Given the description of an element on the screen output the (x, y) to click on. 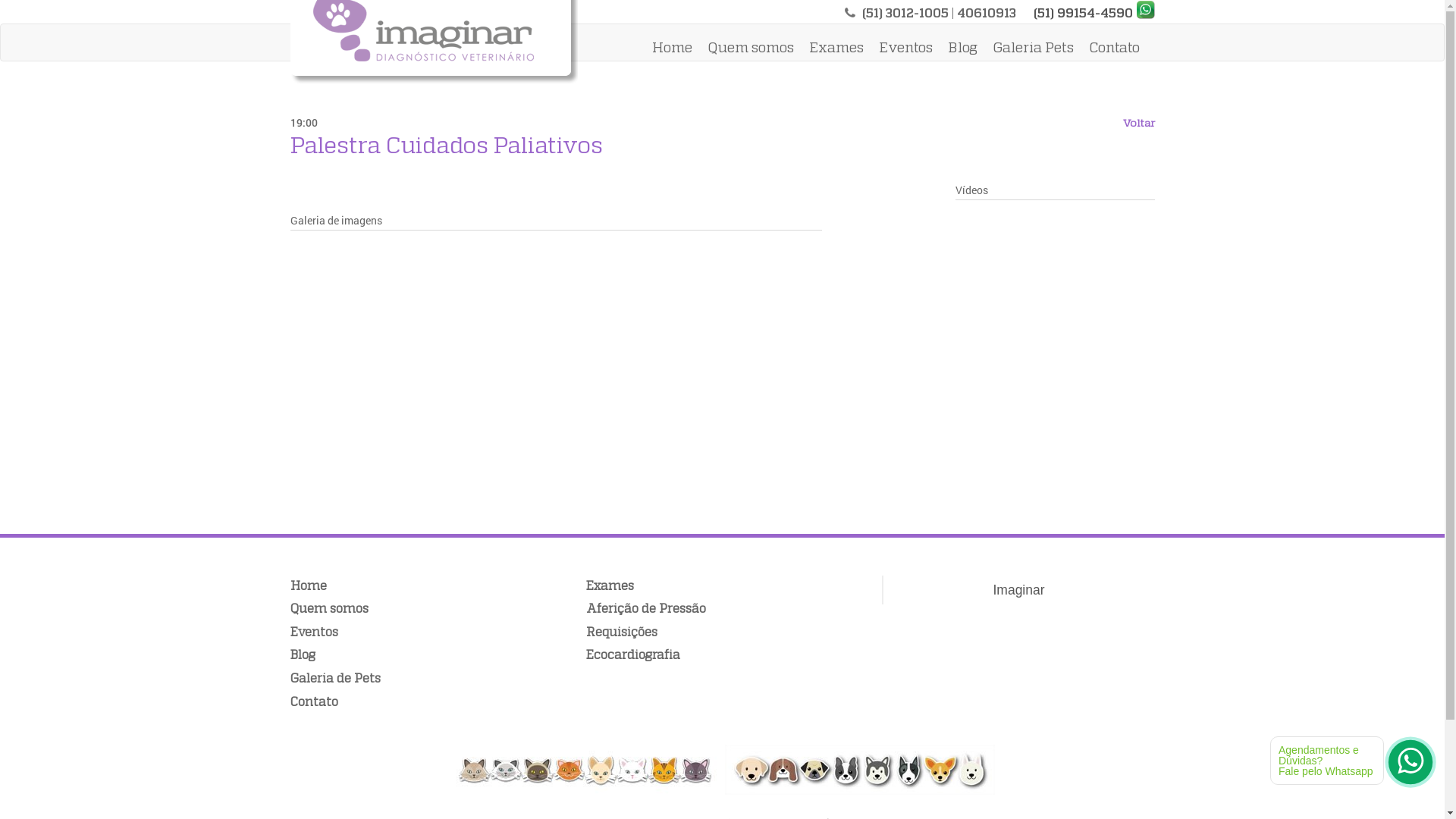
Voltar Element type: text (1138, 122)
Eventos Element type: text (905, 47)
Exames Element type: text (836, 47)
Imaginar Element type: text (1018, 589)
Contato Element type: text (313, 700)
Ecocardiografia Element type: text (632, 653)
Contato Element type: text (1113, 47)
Home Element type: text (671, 47)
Eventos Element type: text (313, 631)
(51) 99154-4590 Element type: text (1082, 12)
Home Element type: text (307, 584)
Galeria de Pets Element type: text (334, 677)
Galeria Pets Element type: text (1032, 47)
Blog Element type: text (301, 653)
Blog Element type: text (961, 47)
Quem somos Element type: text (328, 607)
Quem somos Element type: text (750, 47)
